Given the description of an element on the screen output the (x, y) to click on. 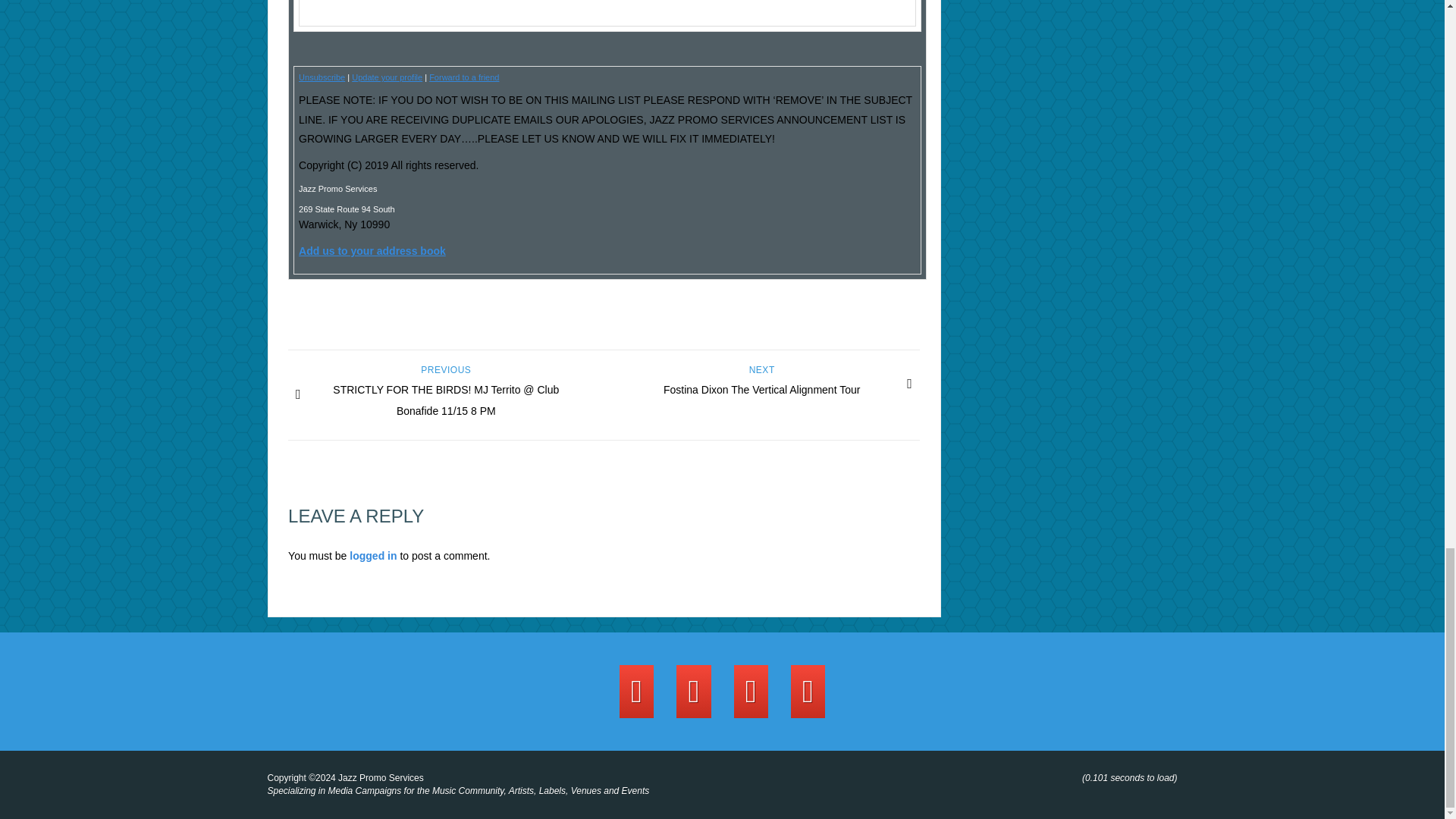
Update your profile (387, 76)
Unsubscribe (321, 76)
logged in (761, 384)
Forward to a friend (372, 555)
Add us to your address book (464, 76)
